Given the description of an element on the screen output the (x, y) to click on. 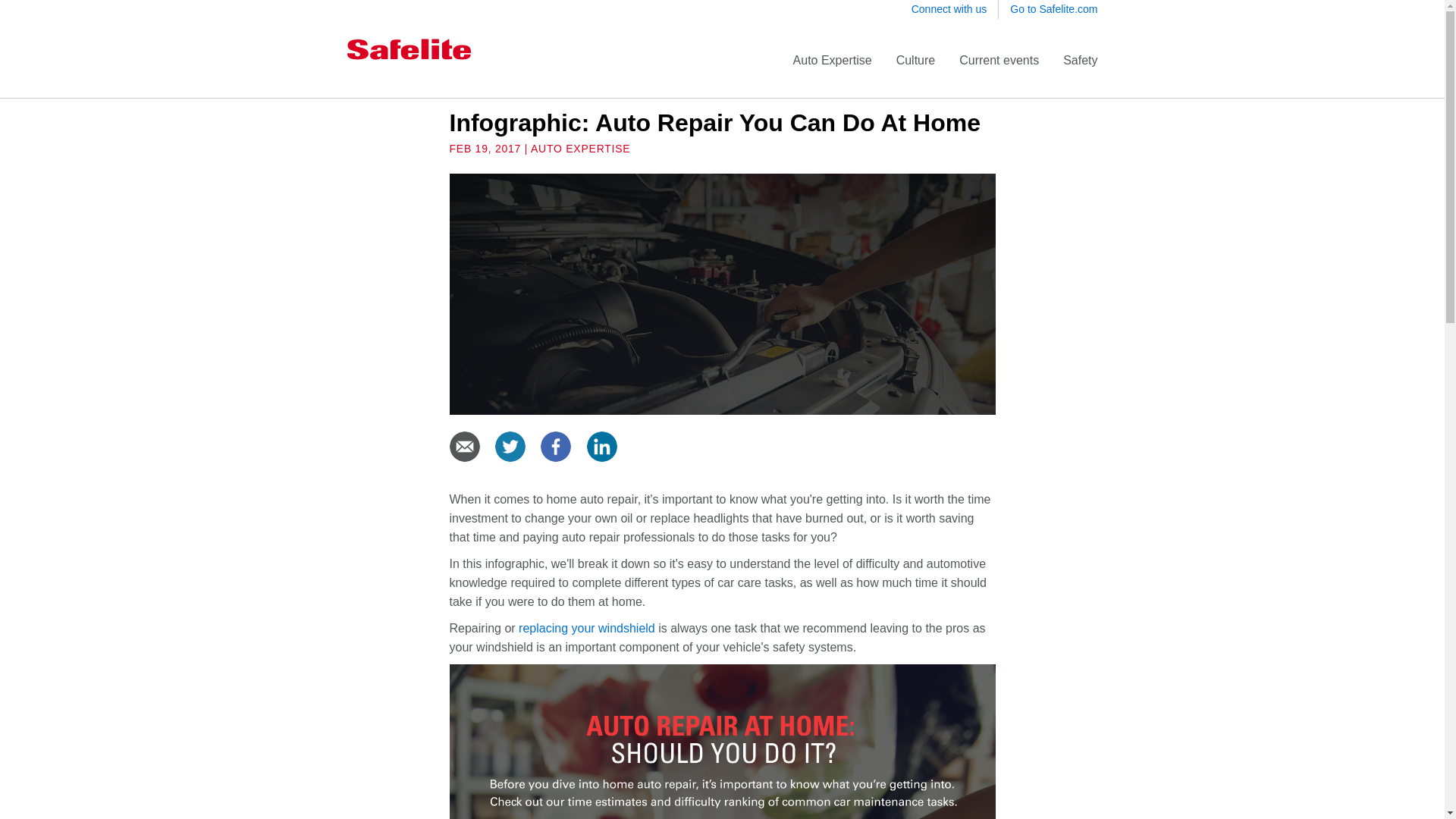
Auto Expertise (832, 59)
Current events (999, 59)
Safelite Logo (408, 47)
Go to Safelite.com (1053, 9)
Connect with us (949, 9)
replacing your windshield (586, 627)
